Given the description of an element on the screen output the (x, y) to click on. 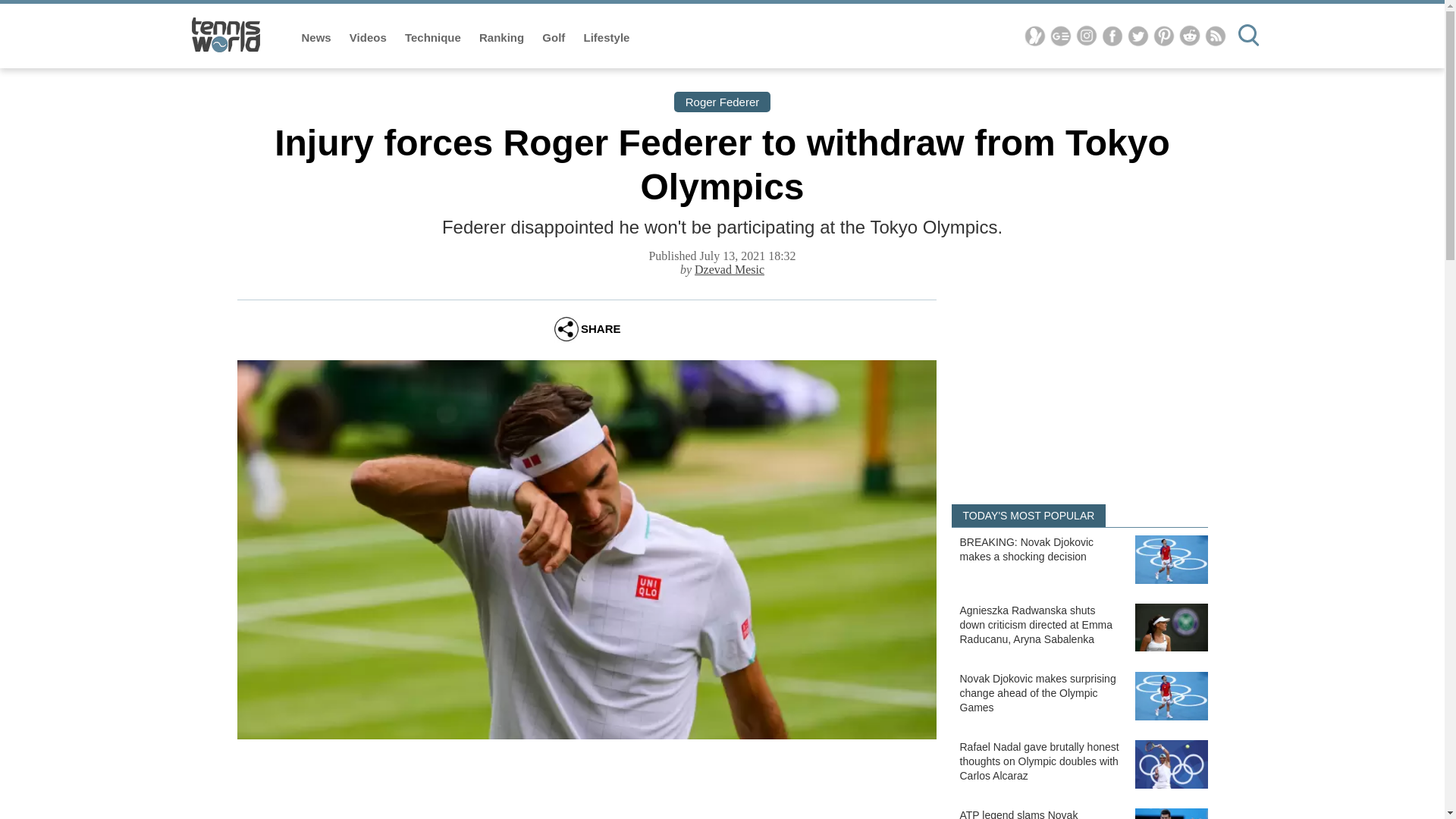
Lifestyle (606, 37)
Golf (554, 37)
Technique (434, 37)
News (317, 37)
Ranking (503, 37)
Videos (369, 37)
